Given the description of an element on the screen output the (x, y) to click on. 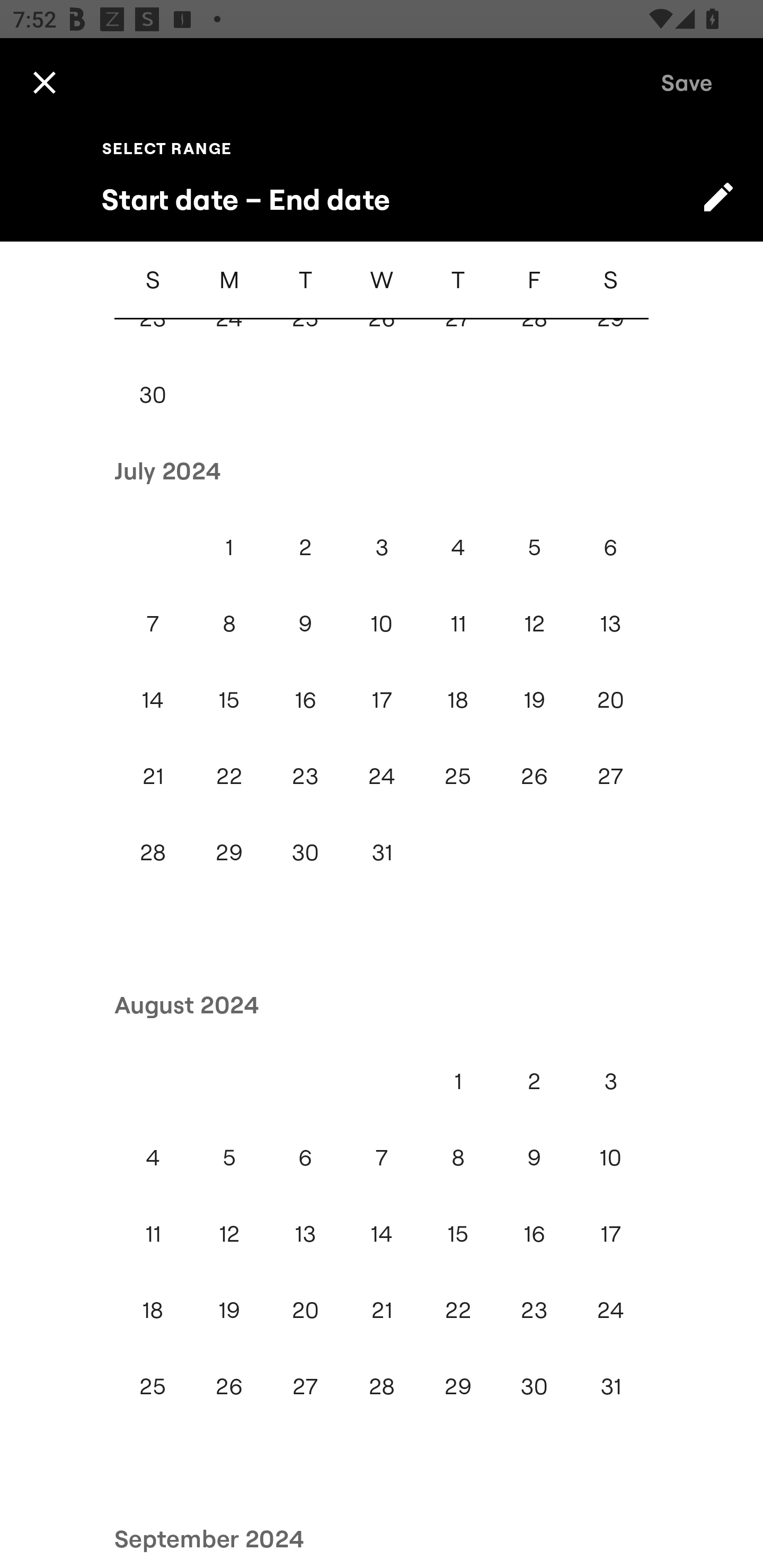
Cancel (44, 81)
Save (686, 81)
Switch to text input mode (718, 196)
30 Sun, Jun 30 (152, 393)
1 Mon, Jul 1 (228, 546)
2 Tue, Jul 2 (305, 546)
3 Wed, Jul 3 (381, 546)
4 Thu, Jul 4 (457, 546)
5 Fri, Jul 5 (533, 546)
6 Sat, Jul 6 (610, 546)
7 Sun, Jul 7 (152, 622)
8 Mon, Jul 8 (228, 622)
9 Tue, Jul 9 (305, 622)
10 Wed, Jul 10 (381, 622)
11 Thu, Jul 11 (457, 622)
12 Fri, Jul 12 (533, 622)
13 Sat, Jul 13 (610, 622)
14 Sun, Jul 14 (152, 699)
15 Mon, Jul 15 (228, 699)
16 Tue, Jul 16 (305, 699)
17 Wed, Jul 17 (381, 699)
18 Thu, Jul 18 (457, 699)
19 Fri, Jul 19 (533, 699)
20 Sat, Jul 20 (610, 699)
21 Sun, Jul 21 (152, 775)
22 Mon, Jul 22 (228, 775)
23 Tue, Jul 23 (305, 775)
24 Wed, Jul 24 (381, 775)
25 Thu, Jul 25 (457, 775)
26 Fri, Jul 26 (533, 775)
27 Sat, Jul 27 (610, 775)
28 Sun, Jul 28 (152, 851)
29 Mon, Jul 29 (228, 851)
30 Tue, Jul 30 (305, 851)
31 Wed, Jul 31 (381, 851)
1 Thu, Aug 1 (457, 1080)
2 Fri, Aug 2 (533, 1080)
3 Sat, Aug 3 (610, 1080)
4 Sun, Aug 4 (152, 1156)
5 Mon, Aug 5 (228, 1156)
6 Tue, Aug 6 (305, 1156)
7 Wed, Aug 7 (381, 1156)
8 Thu, Aug 8 (457, 1156)
9 Fri, Aug 9 (533, 1156)
10 Sat, Aug 10 (610, 1156)
11 Sun, Aug 11 (152, 1232)
12 Mon, Aug 12 (228, 1232)
13 Tue, Aug 13 (305, 1232)
14 Wed, Aug 14 (381, 1232)
15 Thu, Aug 15 (457, 1232)
16 Fri, Aug 16 (533, 1232)
17 Sat, Aug 17 (610, 1232)
18 Sun, Aug 18 (152, 1309)
19 Mon, Aug 19 (228, 1309)
20 Tue, Aug 20 (305, 1309)
21 Wed, Aug 21 (381, 1309)
22 Thu, Aug 22 (457, 1309)
23 Fri, Aug 23 (533, 1309)
24 Sat, Aug 24 (610, 1309)
25 Sun, Aug 25 (152, 1385)
26 Mon, Aug 26 (228, 1385)
27 Tue, Aug 27 (305, 1385)
28 Wed, Aug 28 (381, 1385)
29 Thu, Aug 29 (457, 1385)
30 Fri, Aug 30 (533, 1385)
31 Sat, Aug 31 (610, 1385)
